Given the description of an element on the screen output the (x, y) to click on. 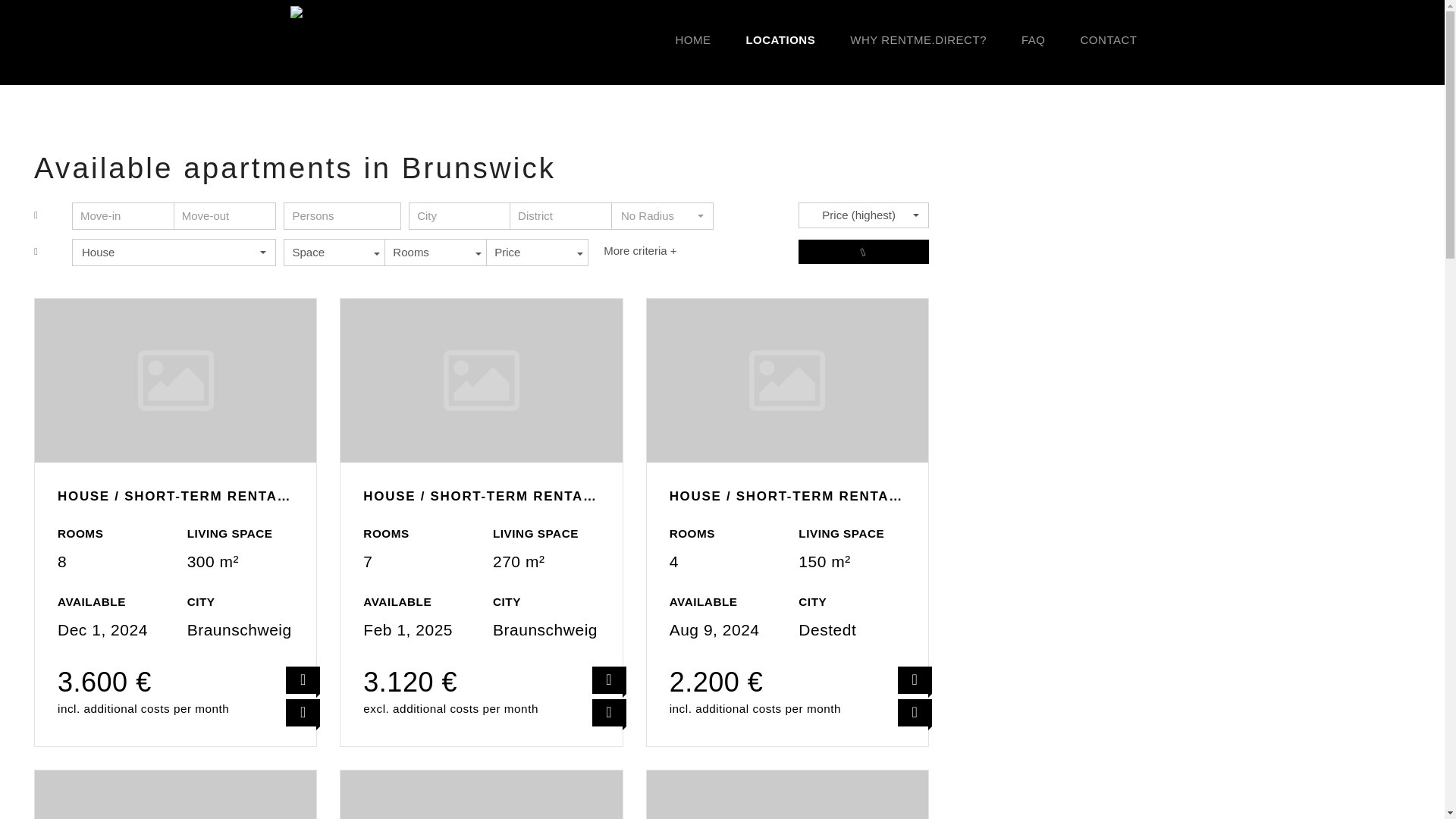
Home (693, 39)
LOCATIONS (780, 39)
No Radius (662, 216)
House (173, 252)
HOME (693, 39)
FAQ (1033, 39)
Auf Merkliste setzen (609, 679)
CONTACT (1108, 39)
FAQ (1033, 39)
Details (662, 216)
Details (609, 712)
Verband der Mitwohnzentralen in Berlin (914, 712)
Auf Merkliste setzen (351, 39)
Details (302, 679)
